Given the description of an element on the screen output the (x, y) to click on. 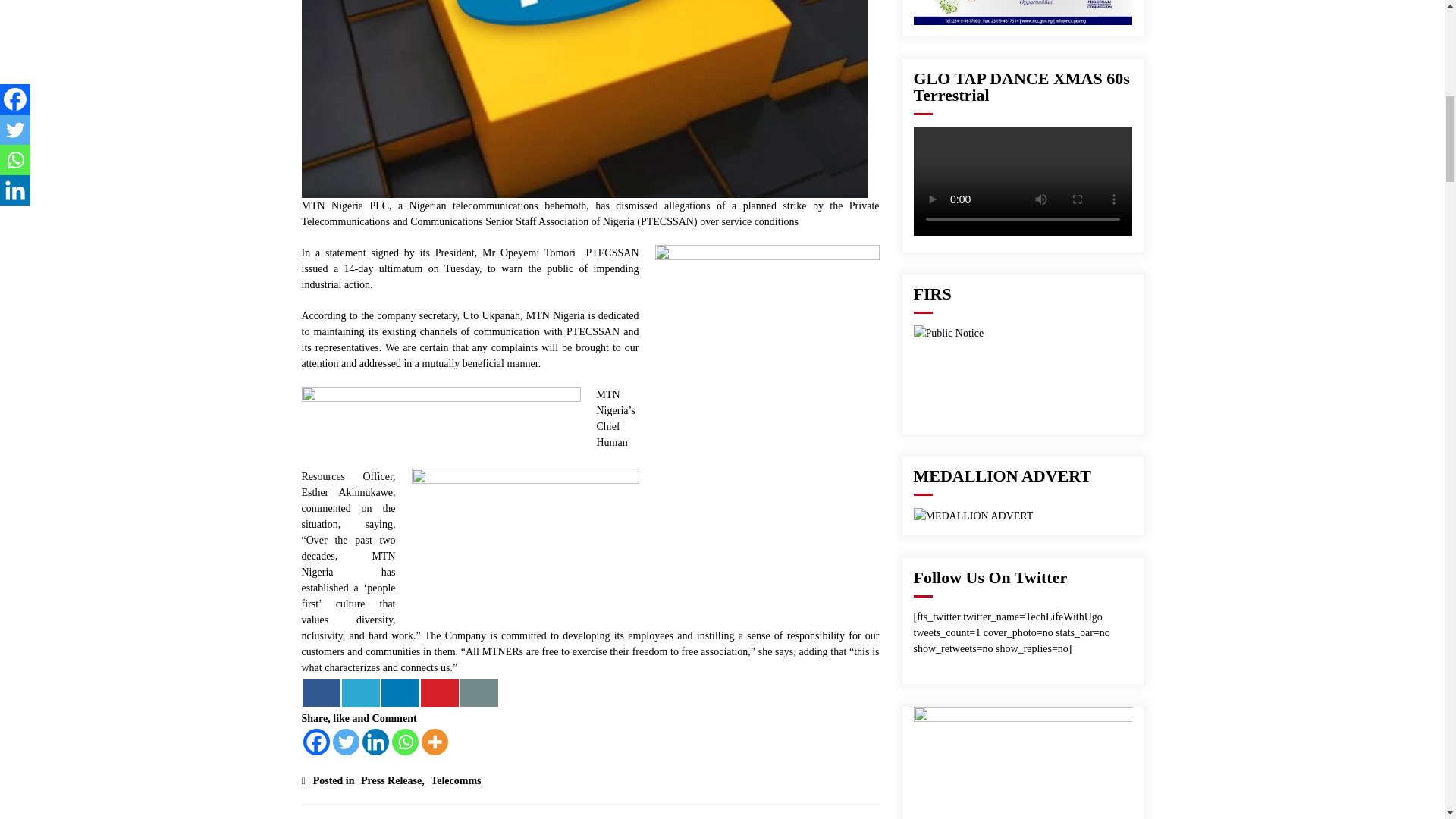
Contact us (478, 692)
Share On Linkedin (399, 692)
Share On Youtube (439, 692)
Share On Twitter (359, 692)
Share On Facebook (320, 692)
